Given the description of an element on the screen output the (x, y) to click on. 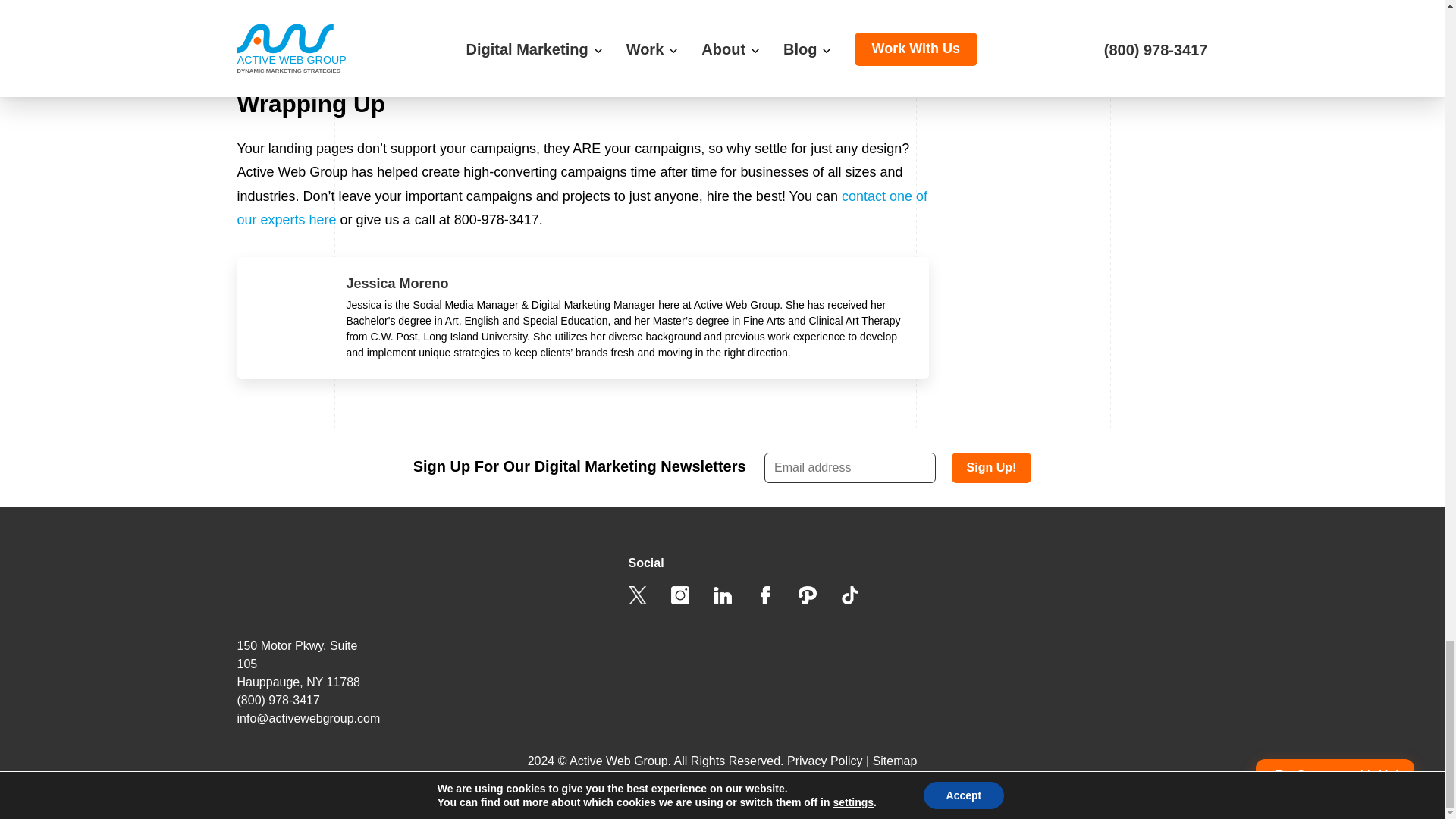
Sign Up! (992, 467)
